Given the description of an element on the screen output the (x, y) to click on. 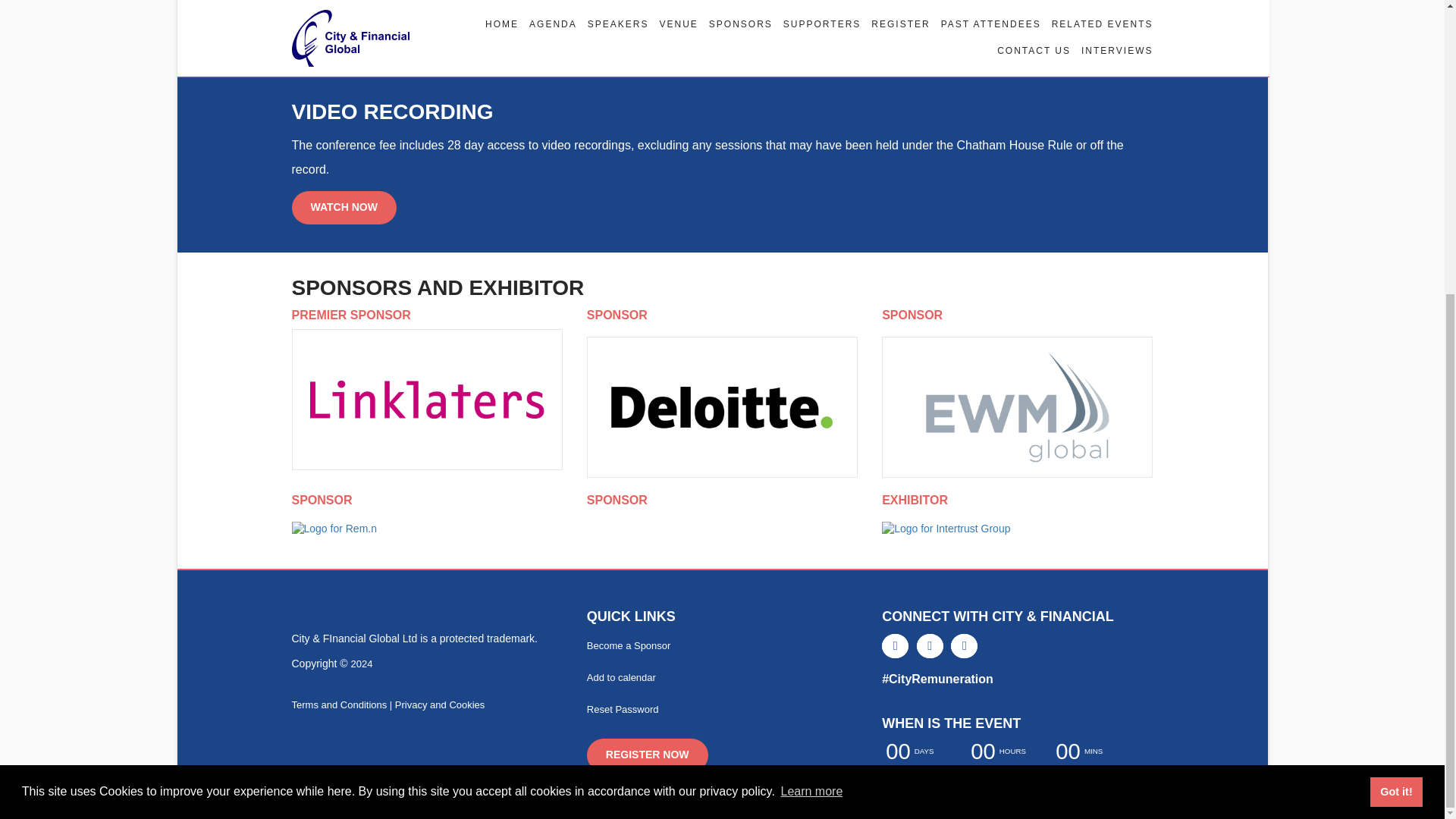
WATCH NOW (343, 207)
REGISTER NOW (646, 755)
Add to calendar (621, 677)
Privacy and Cookies (439, 704)
SUBMIT (427, 35)
CANCEL (335, 35)
Add To Calendar (621, 677)
Become a Sponsor (628, 645)
Learn more (810, 339)
Reset Password (622, 708)
